Given the description of an element on the screen output the (x, y) to click on. 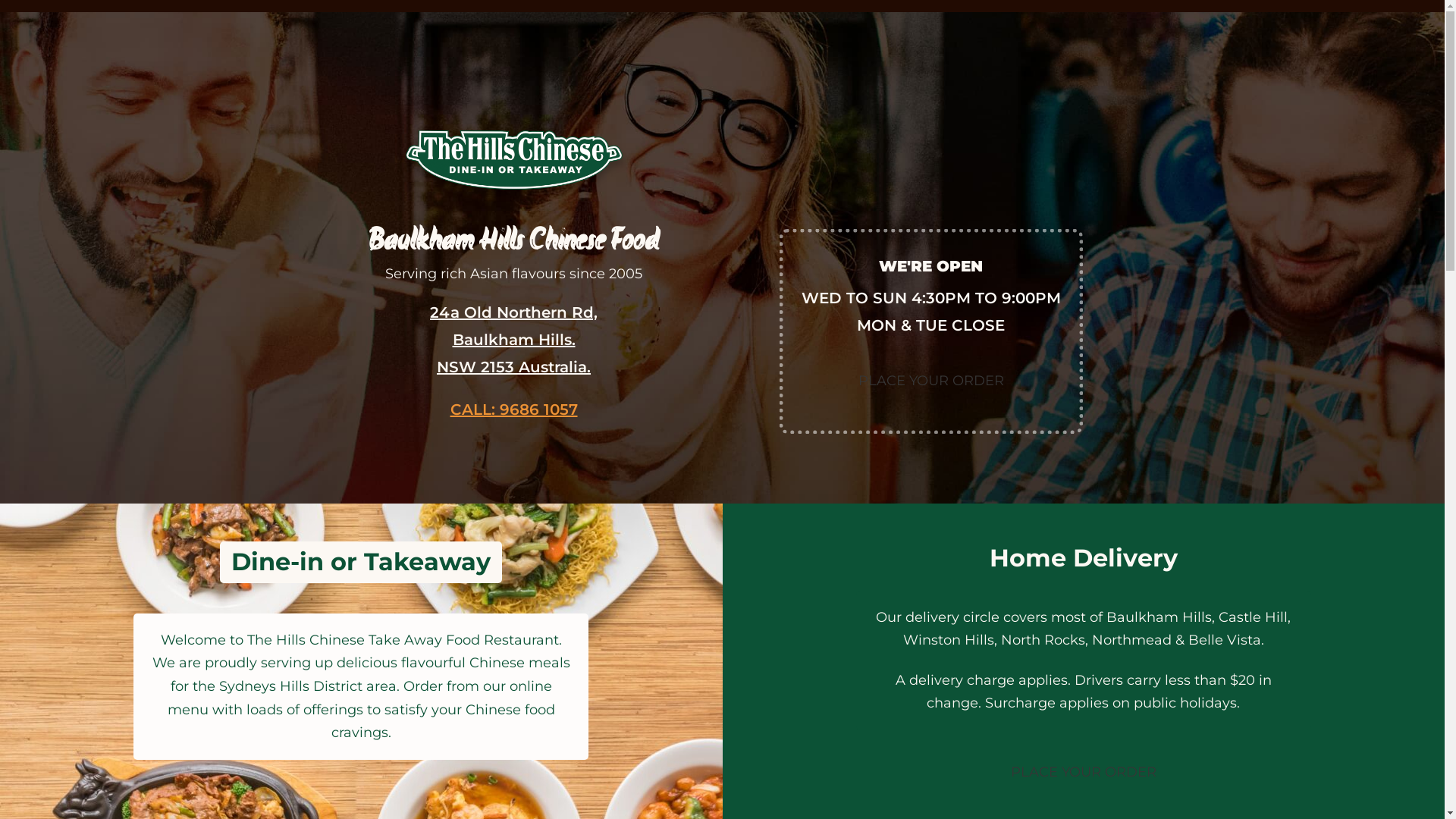
CALL: 9686 1057 Element type: text (513, 409)
24a Old Northern Rd,
Baulkham Hills.
NSW 2153 Australia. Element type: text (513, 339)
